Given the description of an element on the screen output the (x, y) to click on. 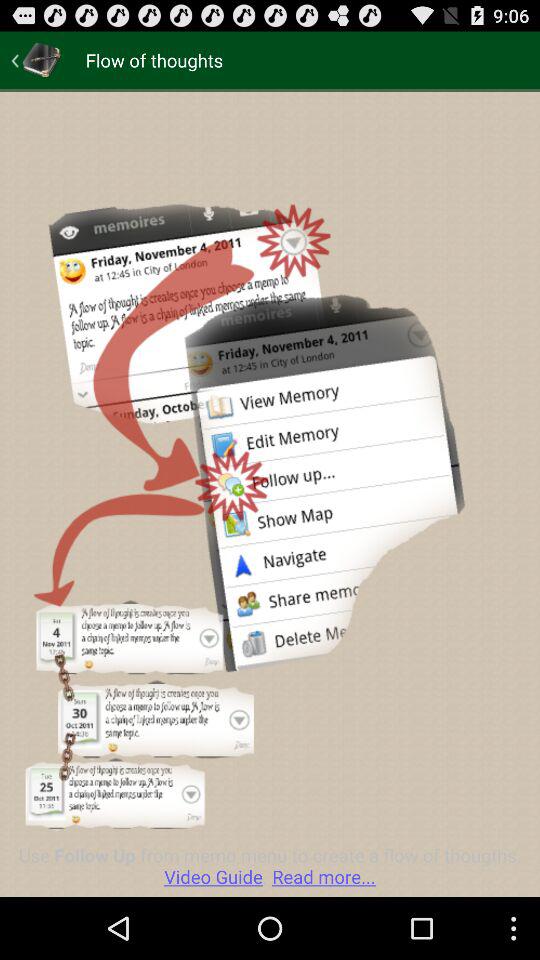
turn off use follow up app (270, 866)
